Given the description of an element on the screen output the (x, y) to click on. 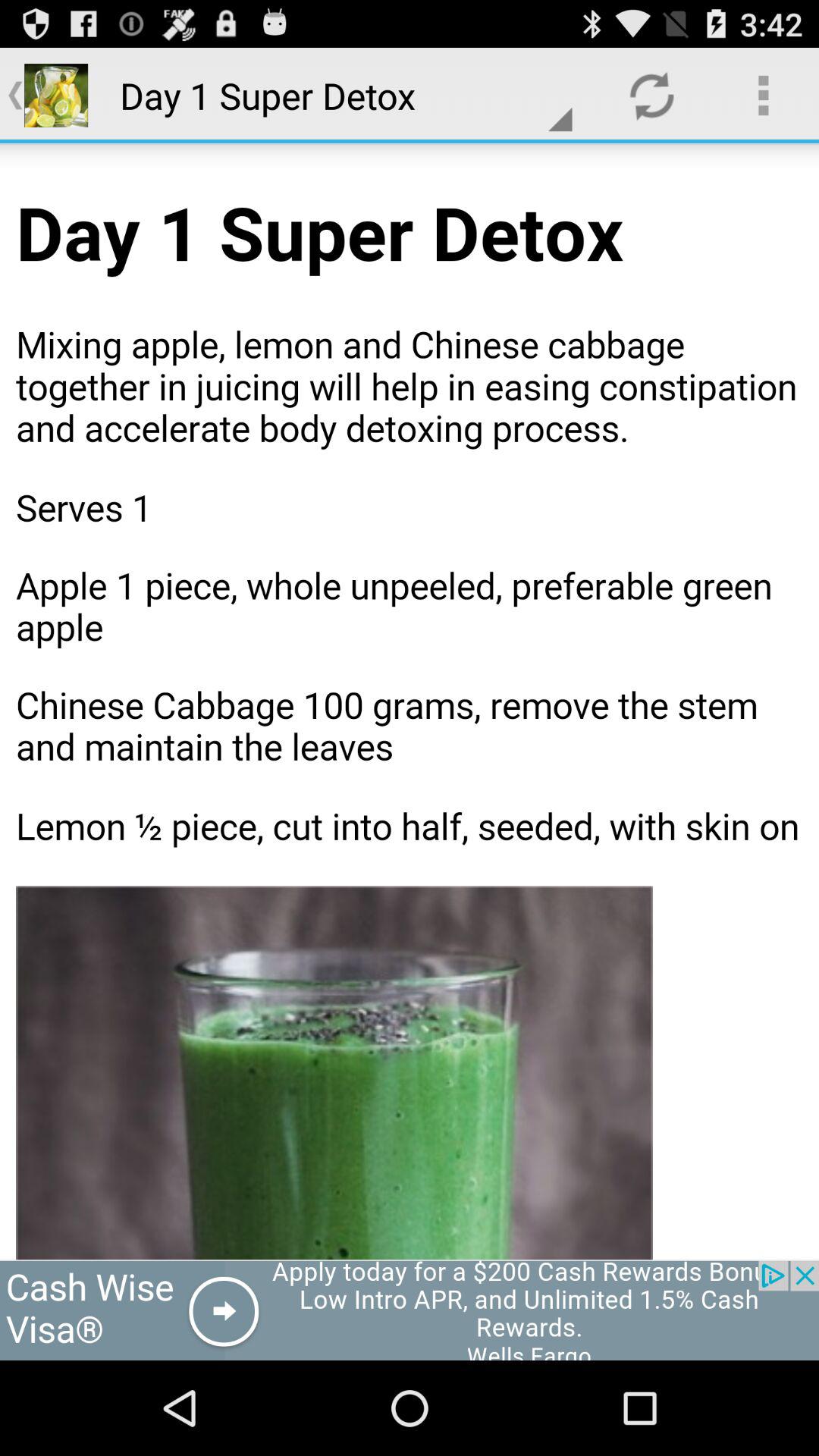
apply for credit card (409, 1310)
